Given the description of an element on the screen output the (x, y) to click on. 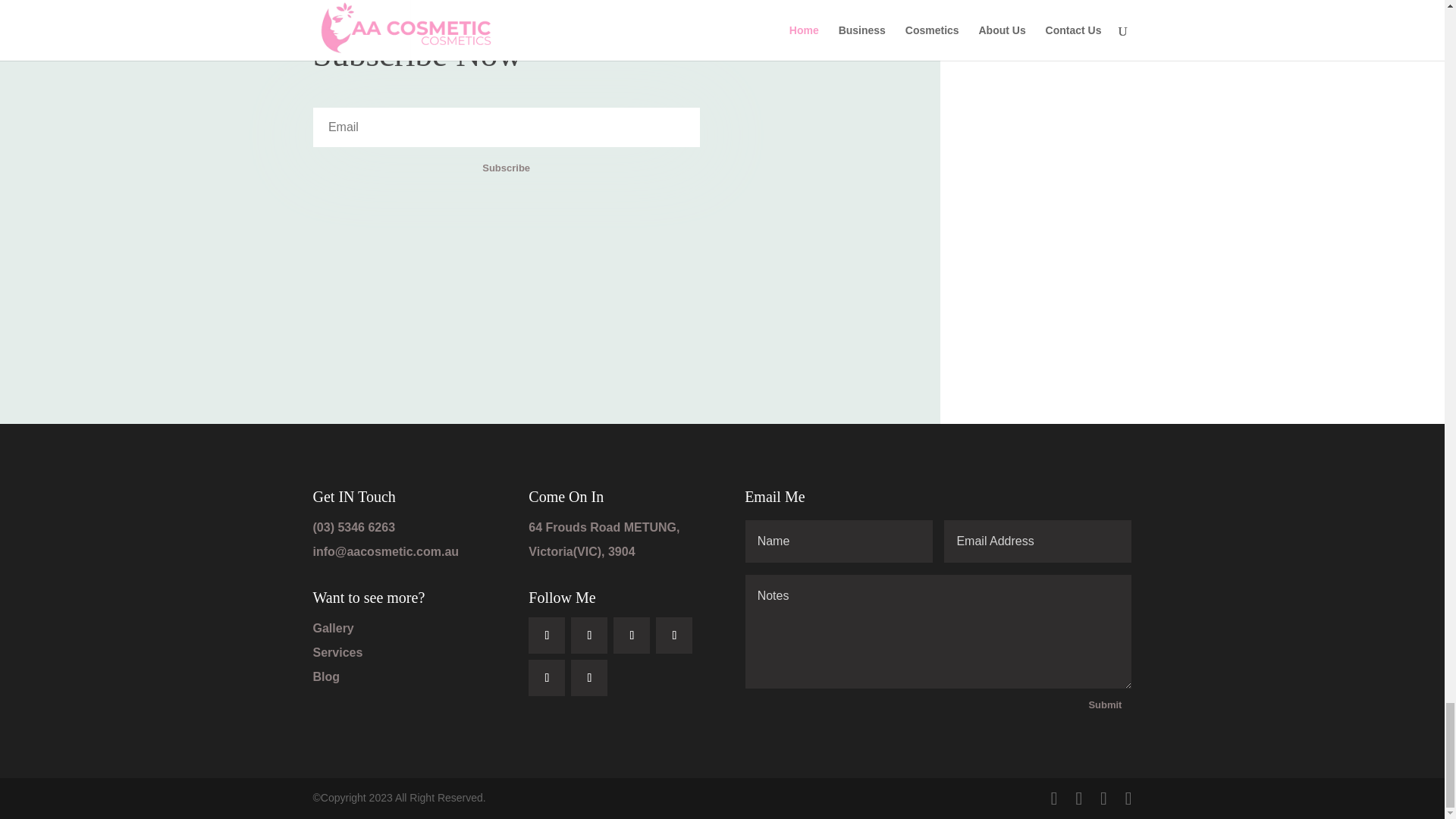
Subscribe (505, 169)
Follow on Facebook (546, 635)
Blog (326, 676)
Follow on Twitter (588, 635)
Services (337, 652)
Follow on Instagram (546, 678)
Gallery (333, 627)
Follow on LinkedIn (630, 635)
